Given the description of an element on the screen output the (x, y) to click on. 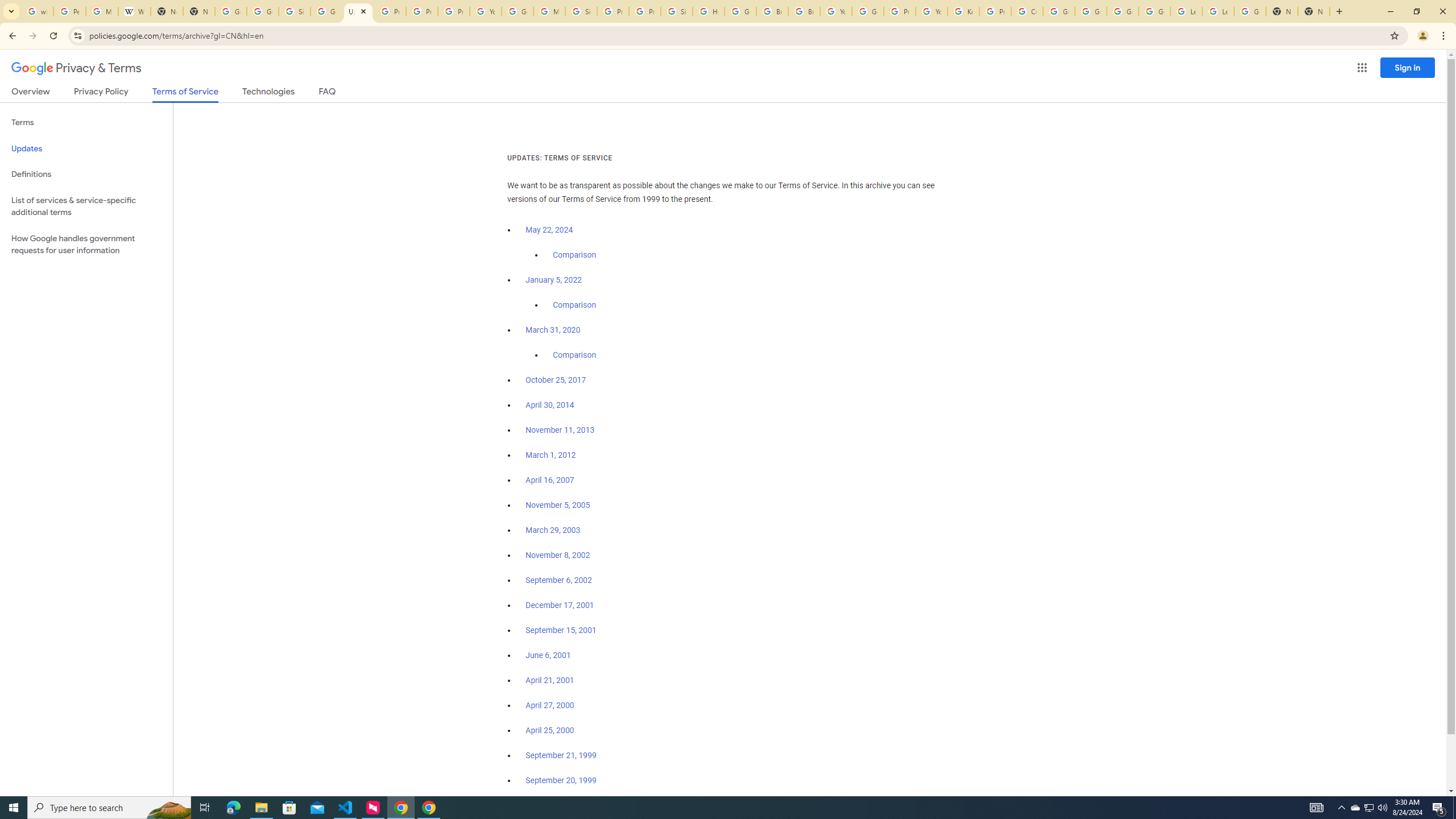
September 21, 1999 (560, 755)
Brand Resource Center (772, 11)
YouTube (931, 11)
May 22, 2024 (549, 230)
Sign in - Google Accounts (581, 11)
January 5, 2022 (553, 280)
April 21, 2001 (550, 679)
